Given the description of an element on the screen output the (x, y) to click on. 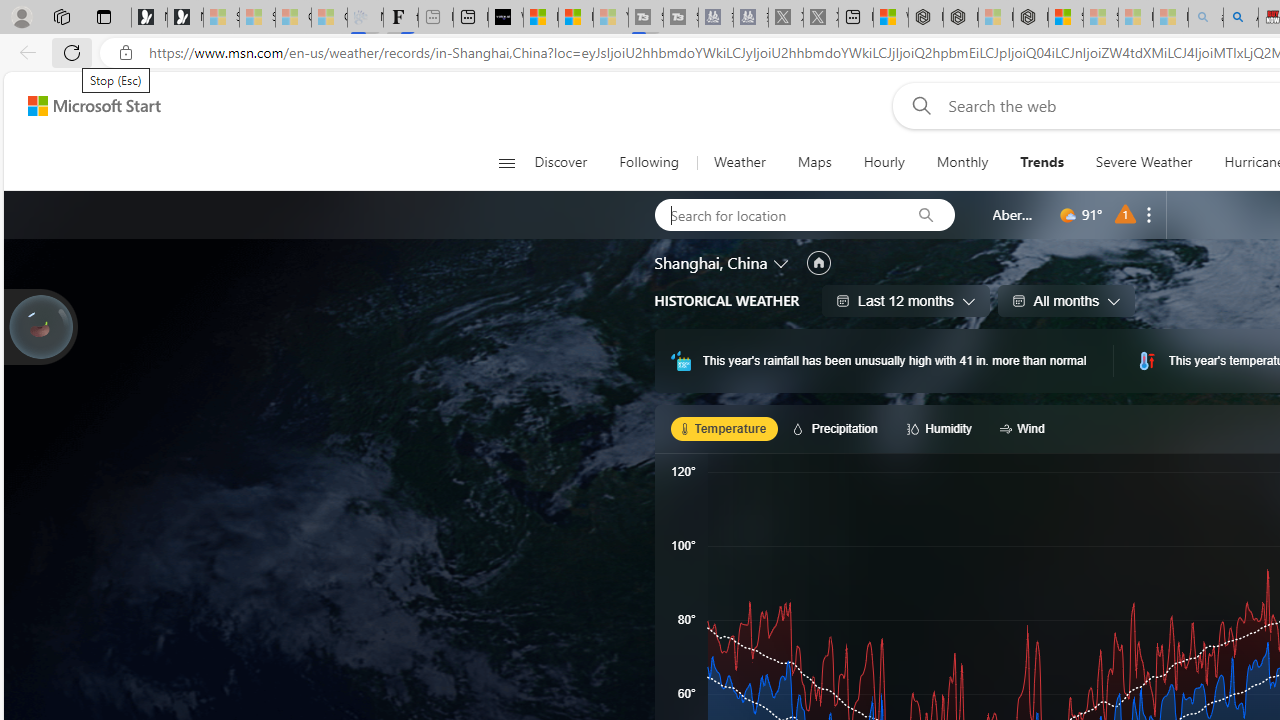
Skip to content (86, 105)
Amazon Echo Dot PNG - Search Images (1240, 17)
All months (1065, 300)
Monthly (962, 162)
Microsoft Start (94, 105)
Set as primary location (818, 263)
Wildlife - MSN (890, 17)
Streaming Coverage | T3 - Sleeping (645, 17)
Tab actions menu (104, 16)
View site information (125, 53)
Nordace - Summer Adventures 2024 (960, 17)
Back (24, 52)
